Given the description of an element on the screen output the (x, y) to click on. 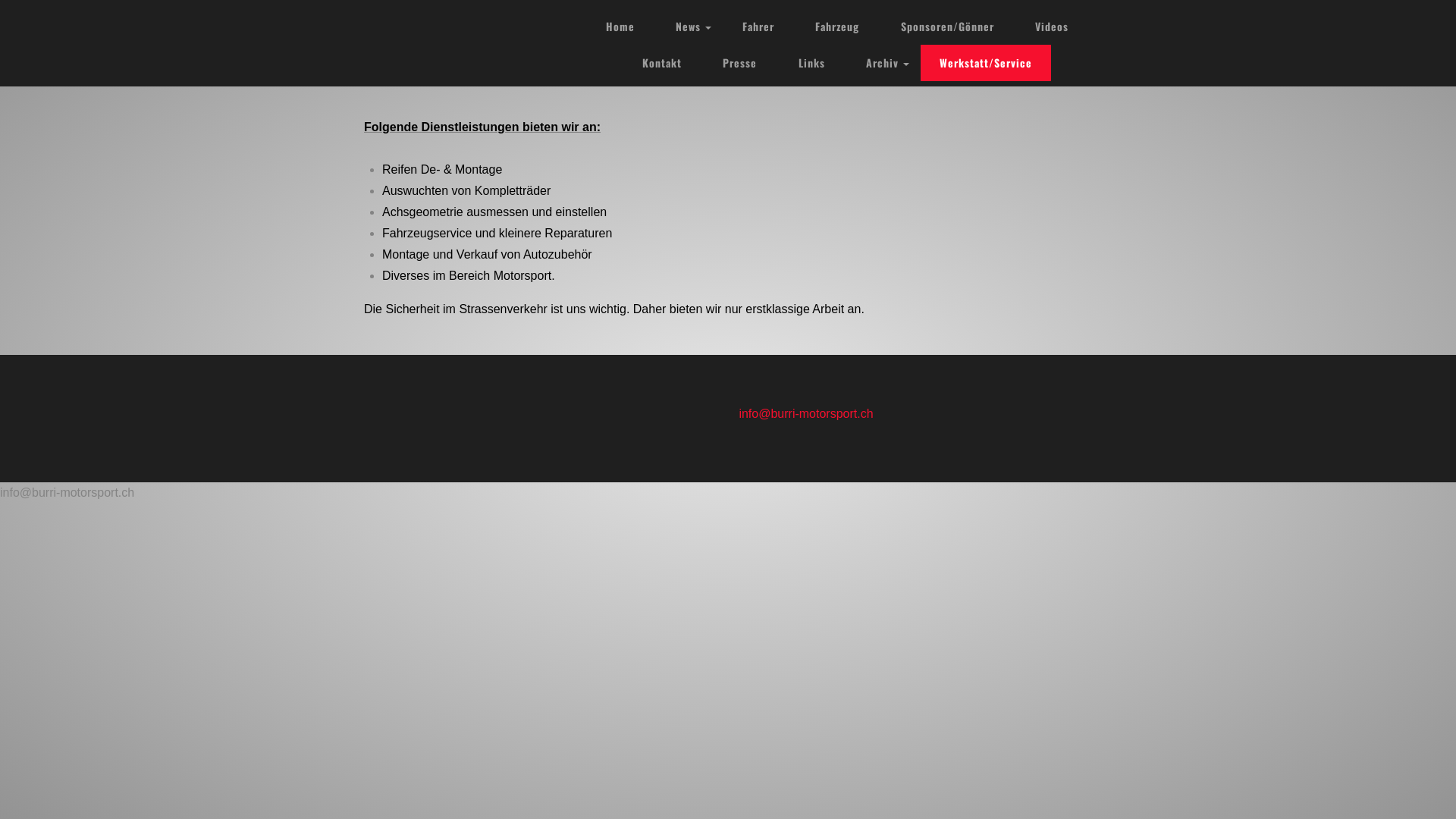
Kontakt Element type: text (661, 62)
Werkstatt/Service Element type: text (985, 62)
Fahrer Element type: text (758, 26)
Links Element type: text (811, 62)
Presse Element type: text (739, 62)
Home Element type: text (619, 26)
Fahrzeug Element type: text (837, 26)
Videos Element type: text (1051, 26)
info@burri-motorsport.ch Element type: text (915, 413)
